Given the description of an element on the screen output the (x, y) to click on. 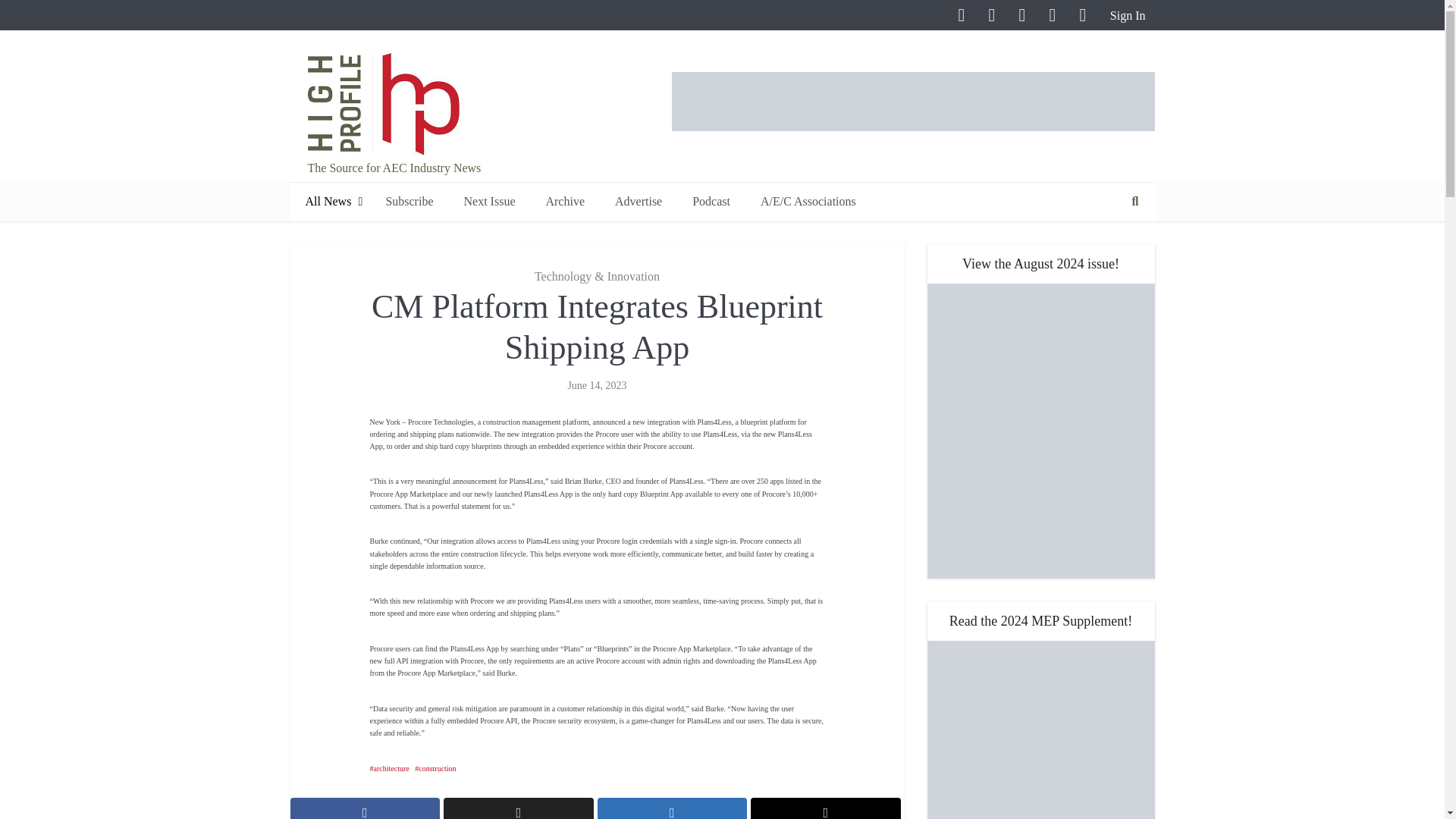
The Annual Green Supplement 2020 is Live! (1040, 729)
Sign In (1125, 15)
All News (329, 201)
